Given the description of an element on the screen output the (x, y) to click on. 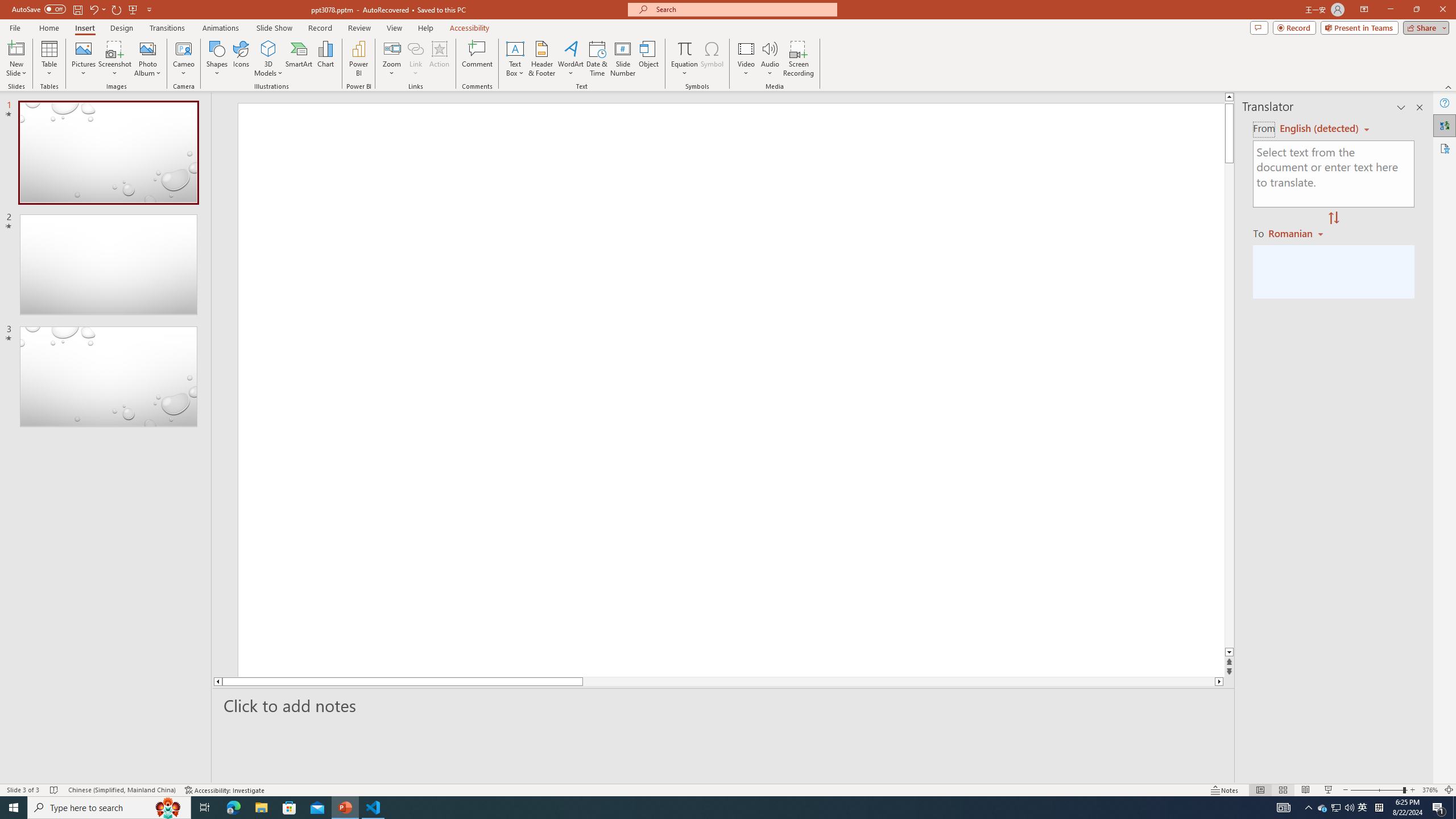
Czech (detected) (1319, 128)
Link (415, 48)
New Photo Album... (147, 48)
WordArt (570, 58)
